Given the description of an element on the screen output the (x, y) to click on. 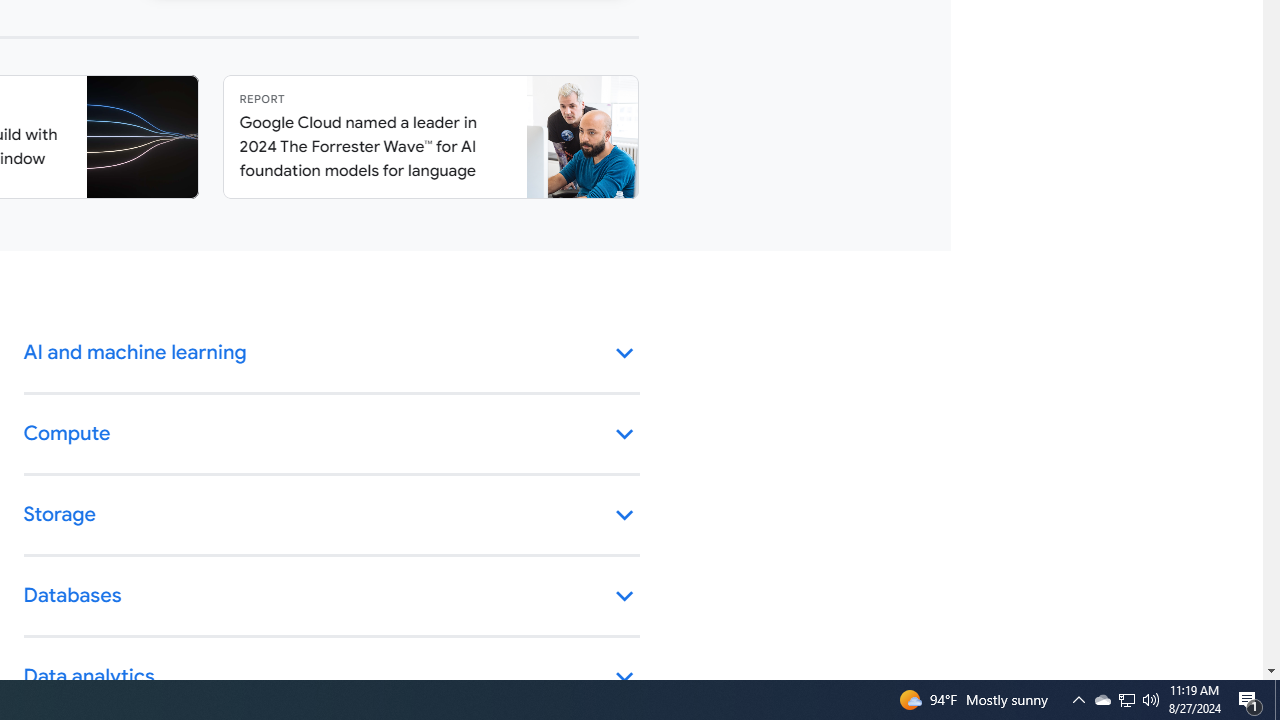
AI and machine learning keyboard_arrow_down (331, 354)
Storage keyboard_arrow_down (331, 516)
Databases keyboard_arrow_down (331, 596)
Data analytics keyboard_arrow_down (331, 678)
Compute keyboard_arrow_down (331, 434)
